Given the description of an element on the screen output the (x, y) to click on. 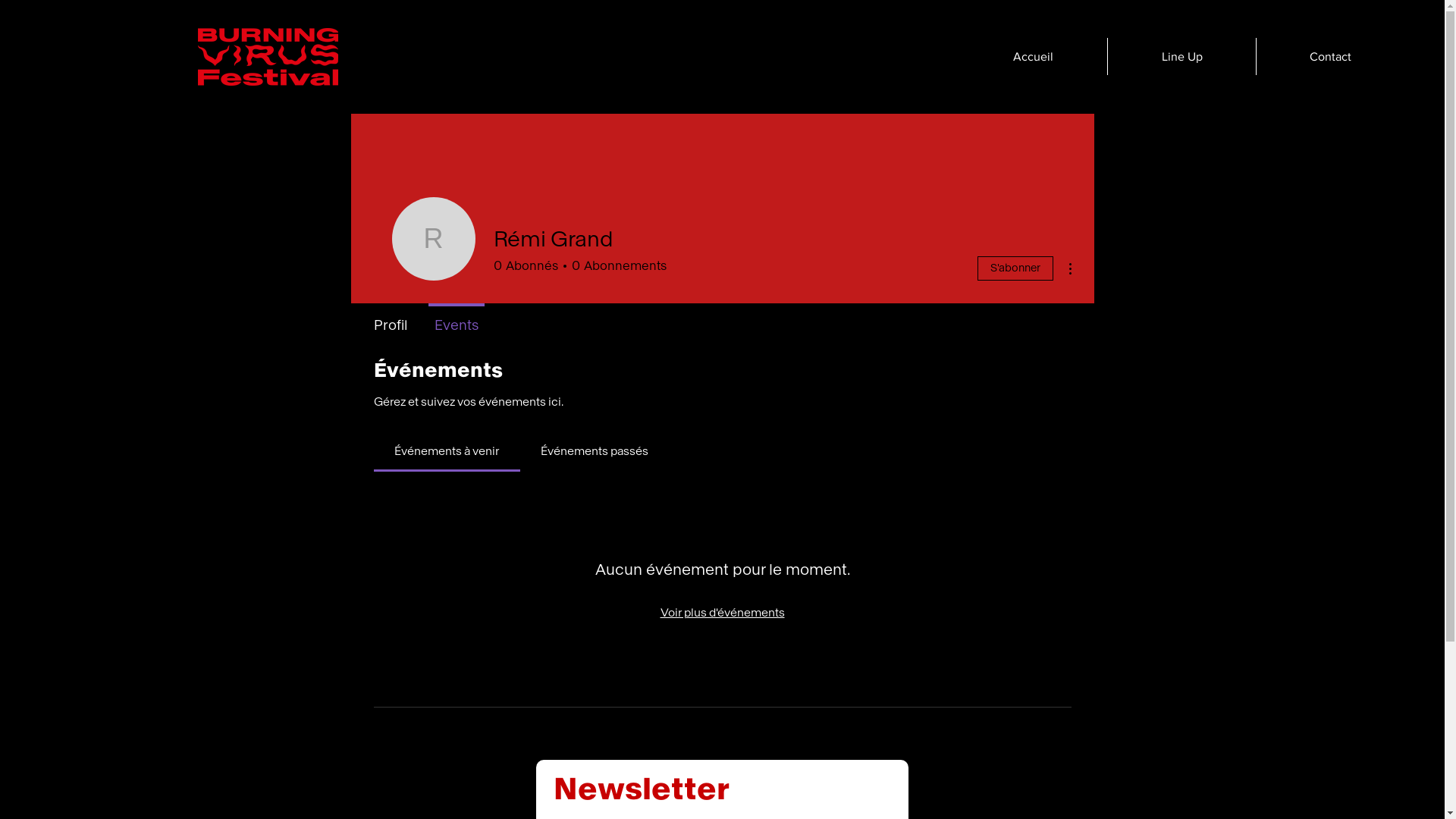
Profil Element type: text (389, 318)
Events Element type: text (455, 318)
S'abonner Element type: text (1014, 268)
Accueil Element type: text (1032, 56)
Line Up Element type: text (1181, 56)
Contact Element type: text (1329, 56)
BV_fest_LOGO_ROUGE.png Element type: hover (267, 56)
0
Abonnements Element type: text (615, 265)
